Given the description of an element on the screen output the (x, y) to click on. 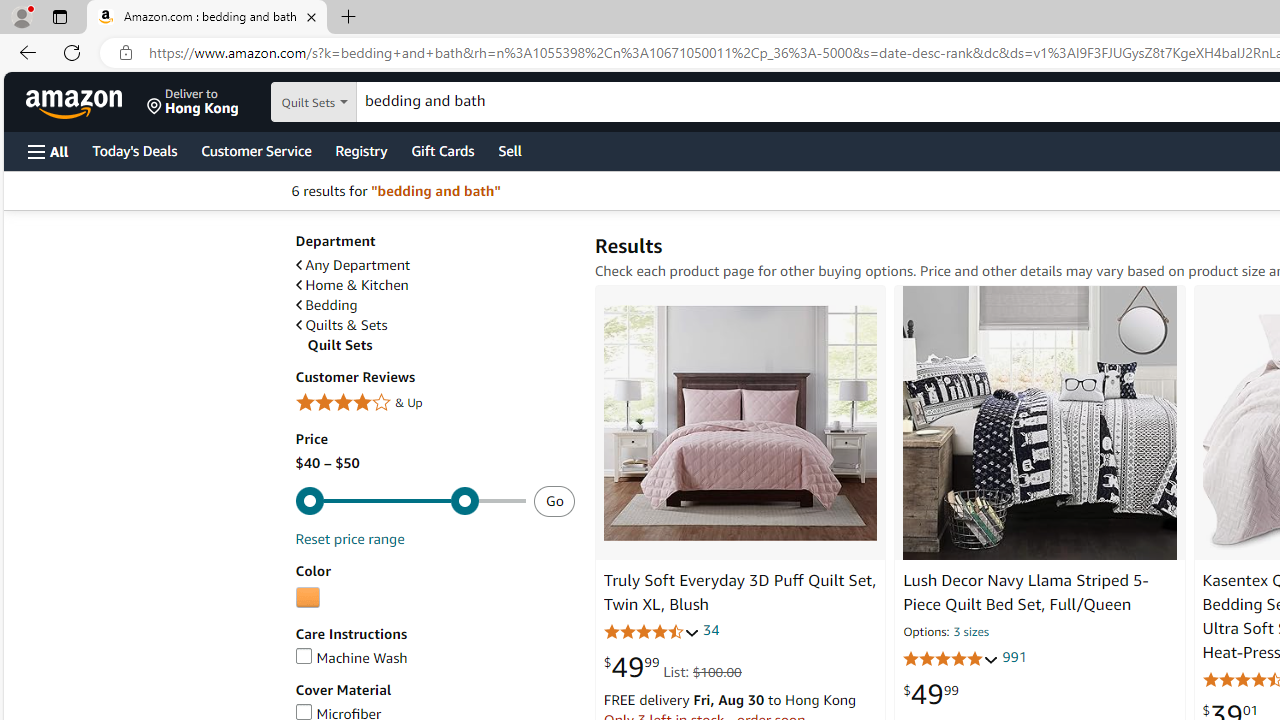
$49.99 (930, 694)
Home & Kitchen (351, 285)
Bedding (434, 304)
Machine Wash (434, 658)
Any Department (434, 265)
Orange (307, 597)
Reset price range (349, 538)
991 (1014, 658)
Deliver to Hong Kong (193, 101)
Machine Wash (351, 658)
Any Department (352, 265)
